Given the description of an element on the screen output the (x, y) to click on. 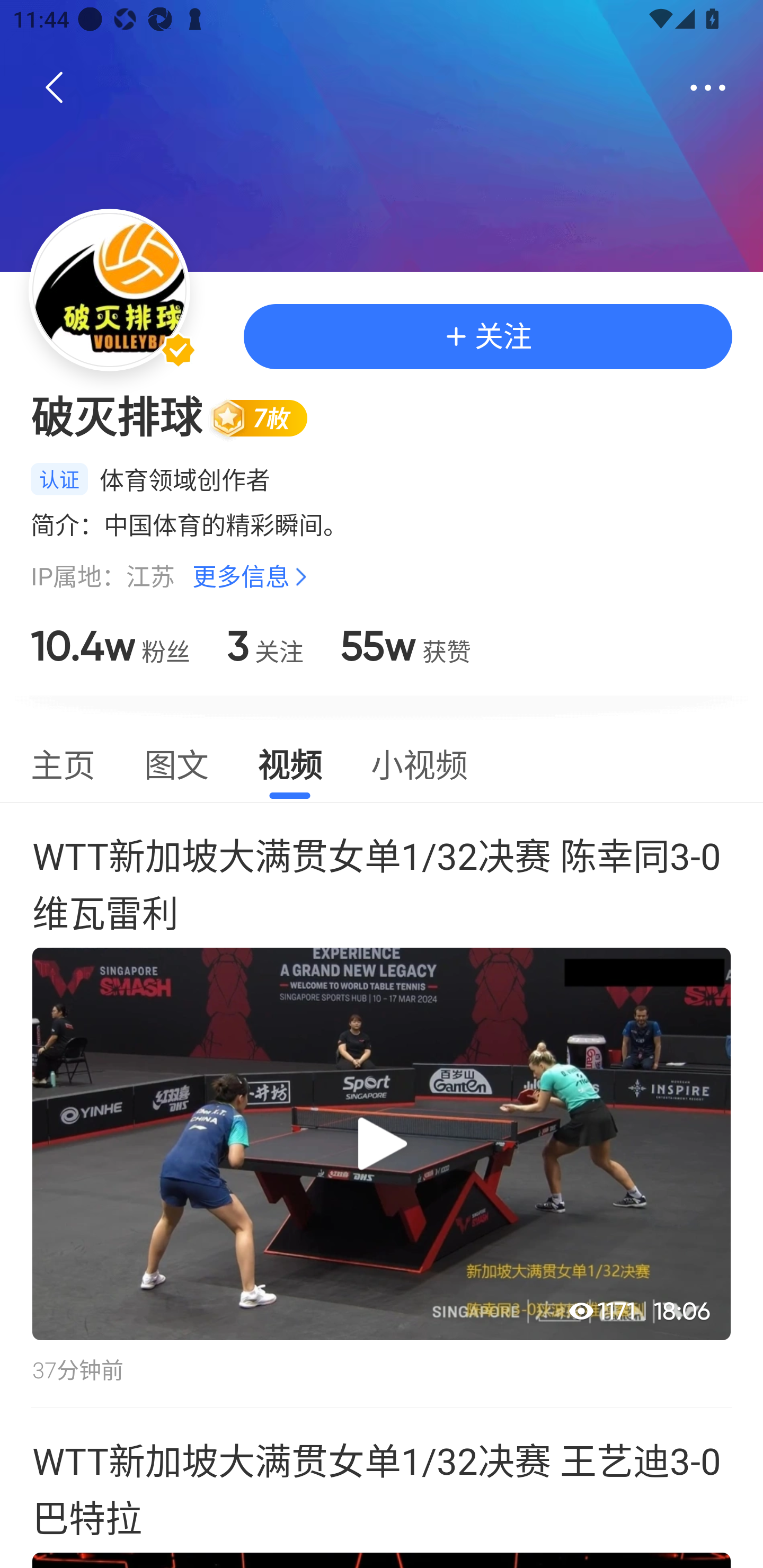
 返回 (54, 87)
 更多 (707, 87)
 关注 (487, 336)
7枚 (266, 417)
认证 (58, 478)
简介：中国体育的精彩瞬间。 (381, 524)
10.4w 粉丝 (109, 645)
3 关注 (264, 645)
55w 获赞 (405, 645)
主页 (62, 762)
图文 (176, 762)
视频 (289, 762)
小视频 (419, 762)
WTT新加坡大满贯女单1/32决赛 陈幸同3-0维瓦雷利  1171 18:06 37分钟前 (381, 1105)
WTT新加坡大满贯女单1/32决赛 王艺迪3-0巴特拉 (381, 1488)
